Given the description of an element on the screen output the (x, y) to click on. 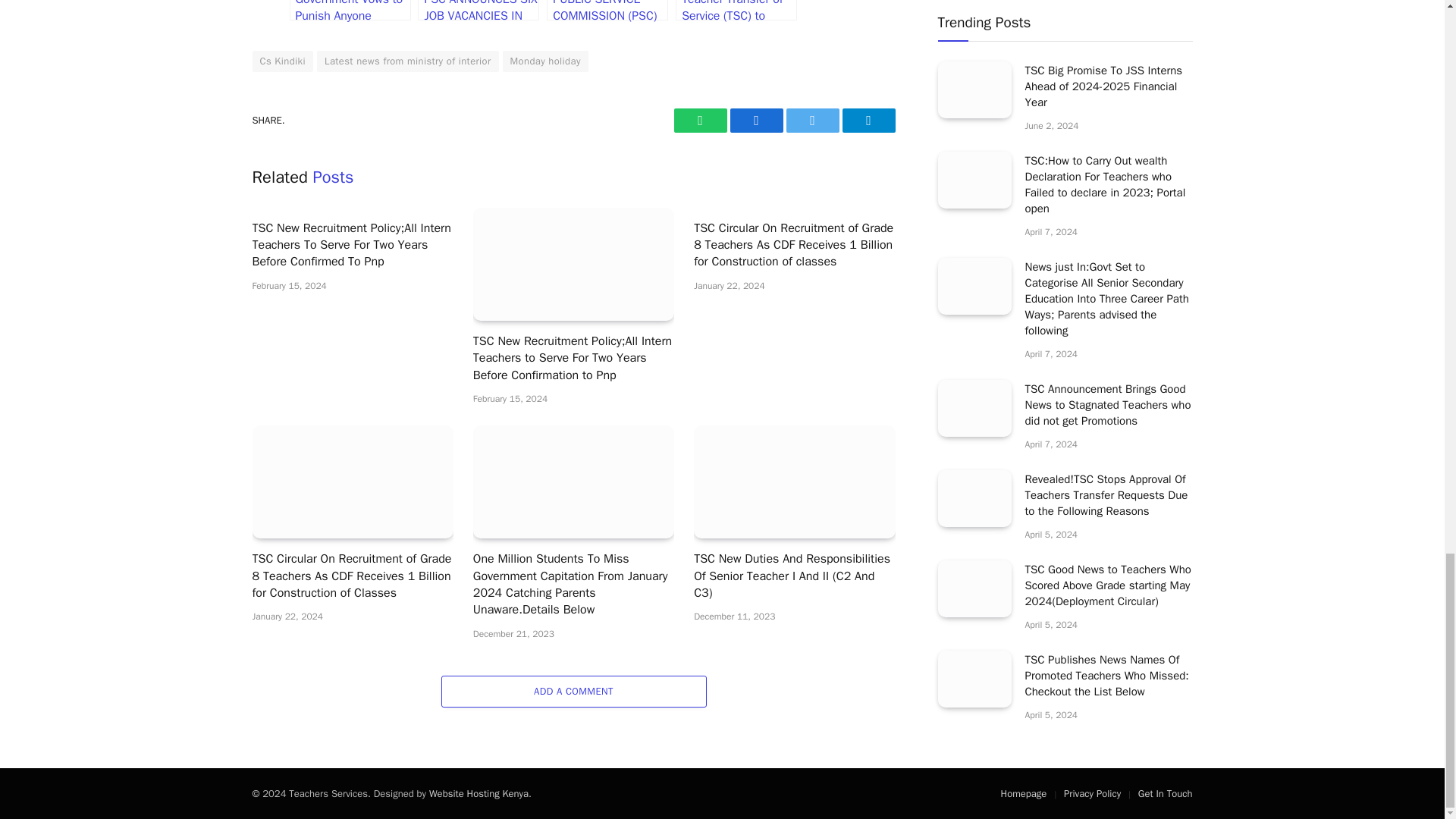
PSC ANNOUNCES SIX JOB VACANCIES IN PUBLIC UNIVERSITIES (477, 10)
Latest news from ministry of interior (408, 61)
WhatsApp (699, 120)
Twitter (812, 120)
Facebook (756, 120)
Share on Facebook (756, 120)
Telegram (868, 120)
Monday holiday (545, 61)
